Given the description of an element on the screen output the (x, y) to click on. 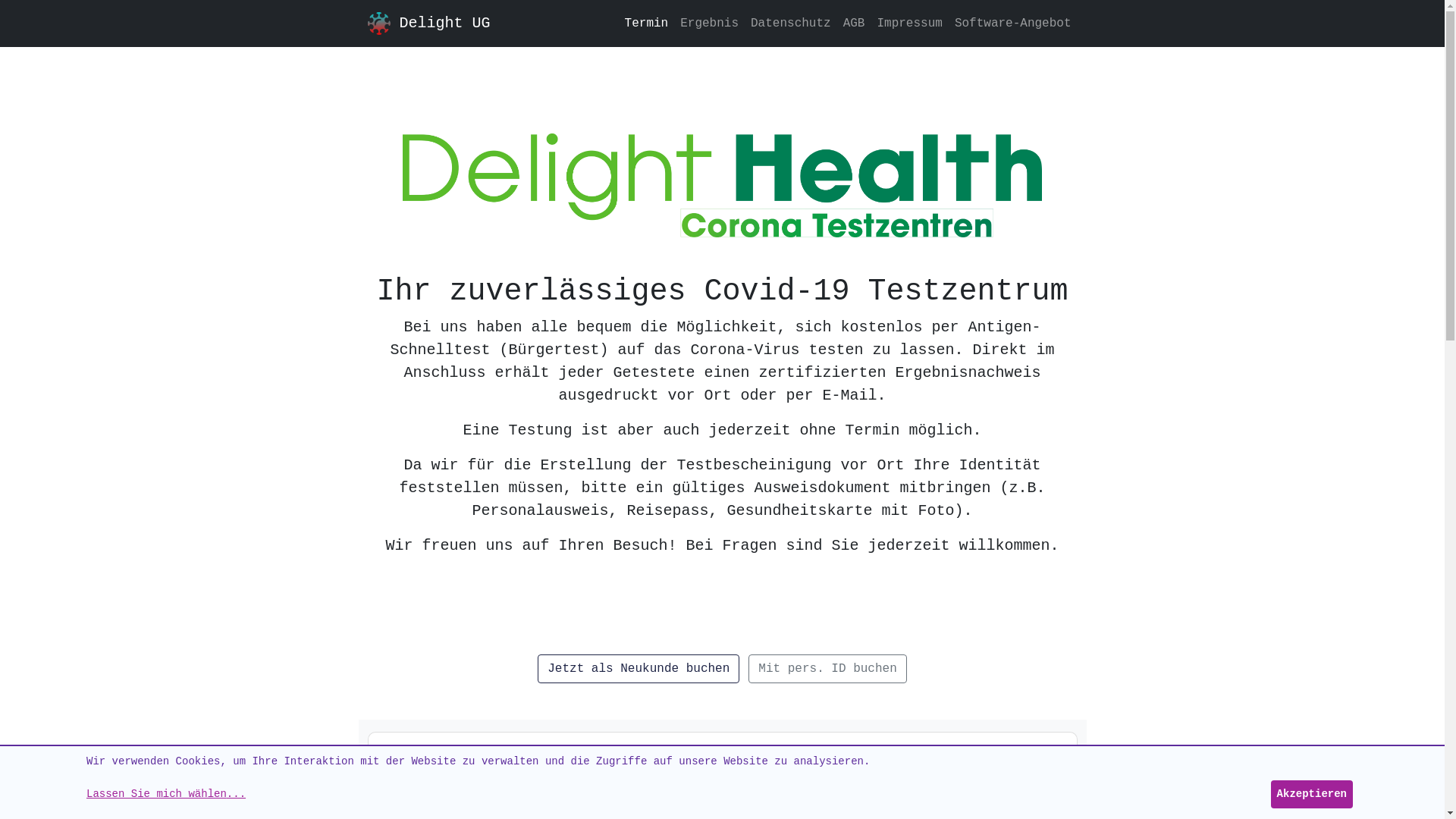
AGB Element type: text (854, 23)
Jetzt als Neukunde buchen Element type: text (638, 668)
Akzeptieren Element type: text (1311, 794)
Impressum Element type: text (908, 23)
Delight UG Element type: text (480, 23)
Termin Element type: text (646, 23)
Ergebnis Element type: text (709, 23)
Datenschutz Element type: text (790, 23)
Software-Angebot Element type: text (1012, 23)
Mit pers. ID buchen Element type: text (827, 668)
